Given the description of an element on the screen output the (x, y) to click on. 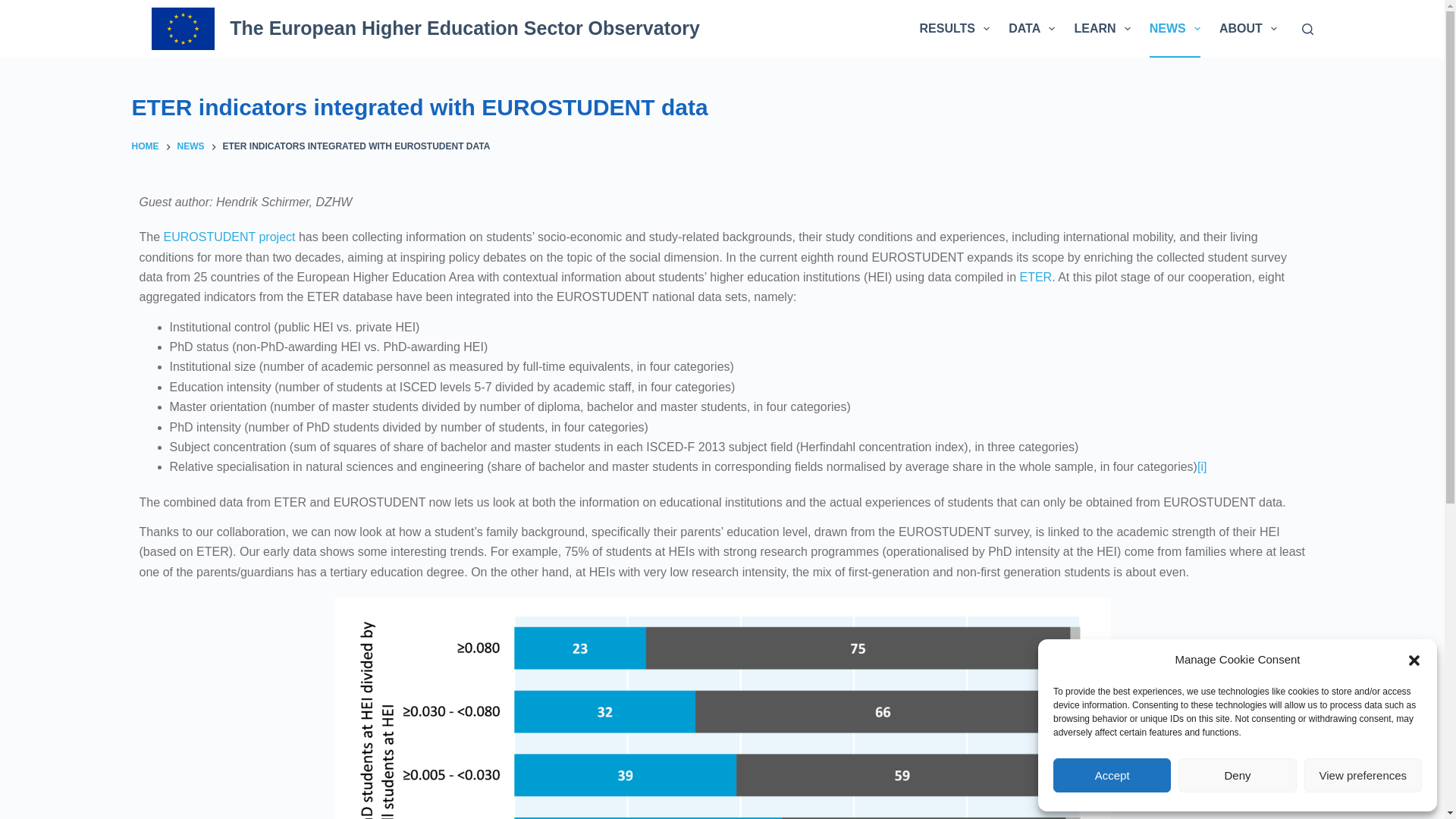
View preferences (1363, 775)
Deny (1236, 775)
Skip to content (15, 7)
Accept (1111, 775)
ETER indicators integrated with EUROSTUDENT data (722, 107)
